Given the description of an element on the screen output the (x, y) to click on. 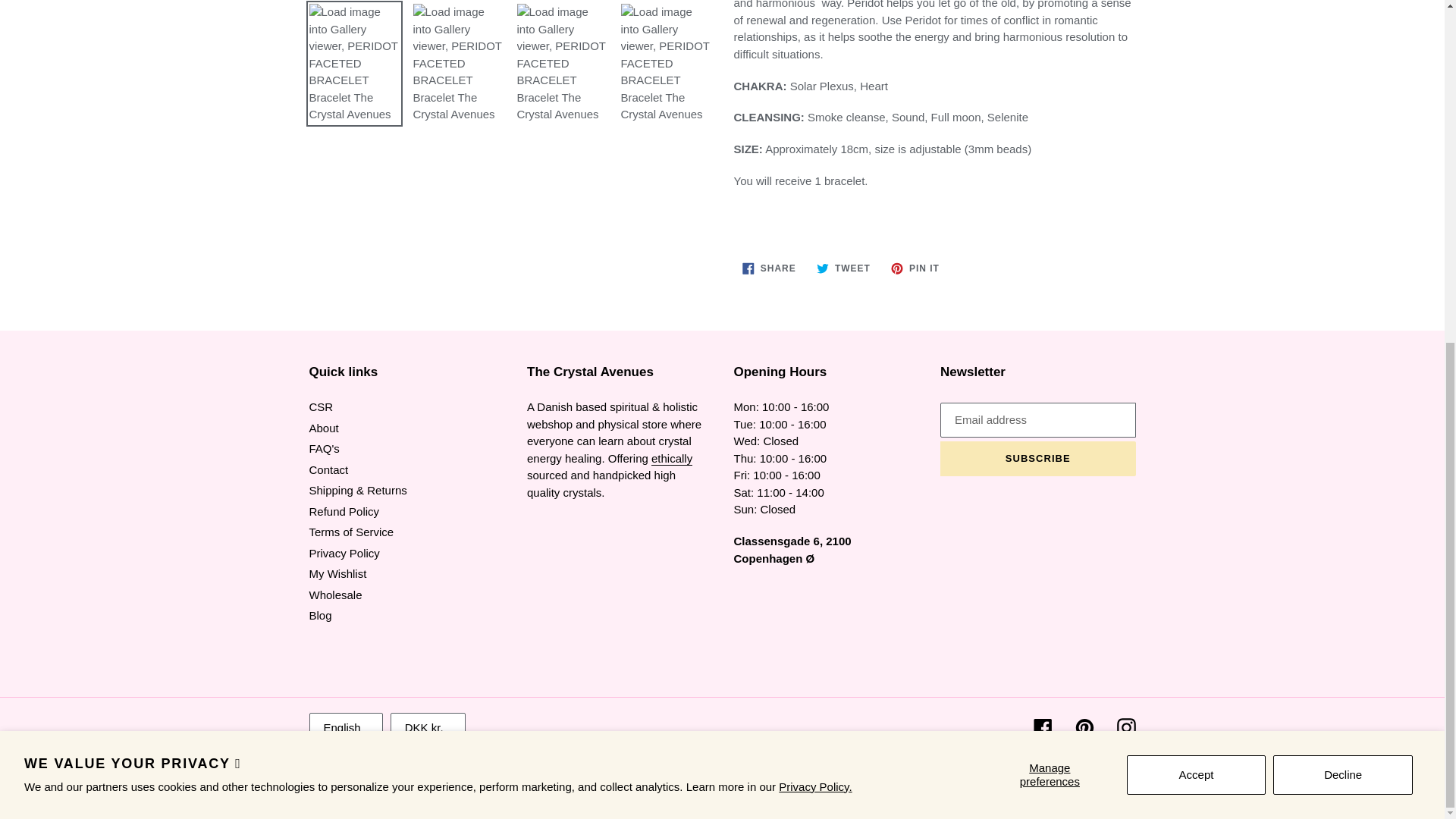
CSR (671, 459)
Accept (1196, 189)
Manage preferences (1049, 189)
Decline (1342, 189)
Privacy Policy. (814, 201)
